Given the description of an element on the screen output the (x, y) to click on. 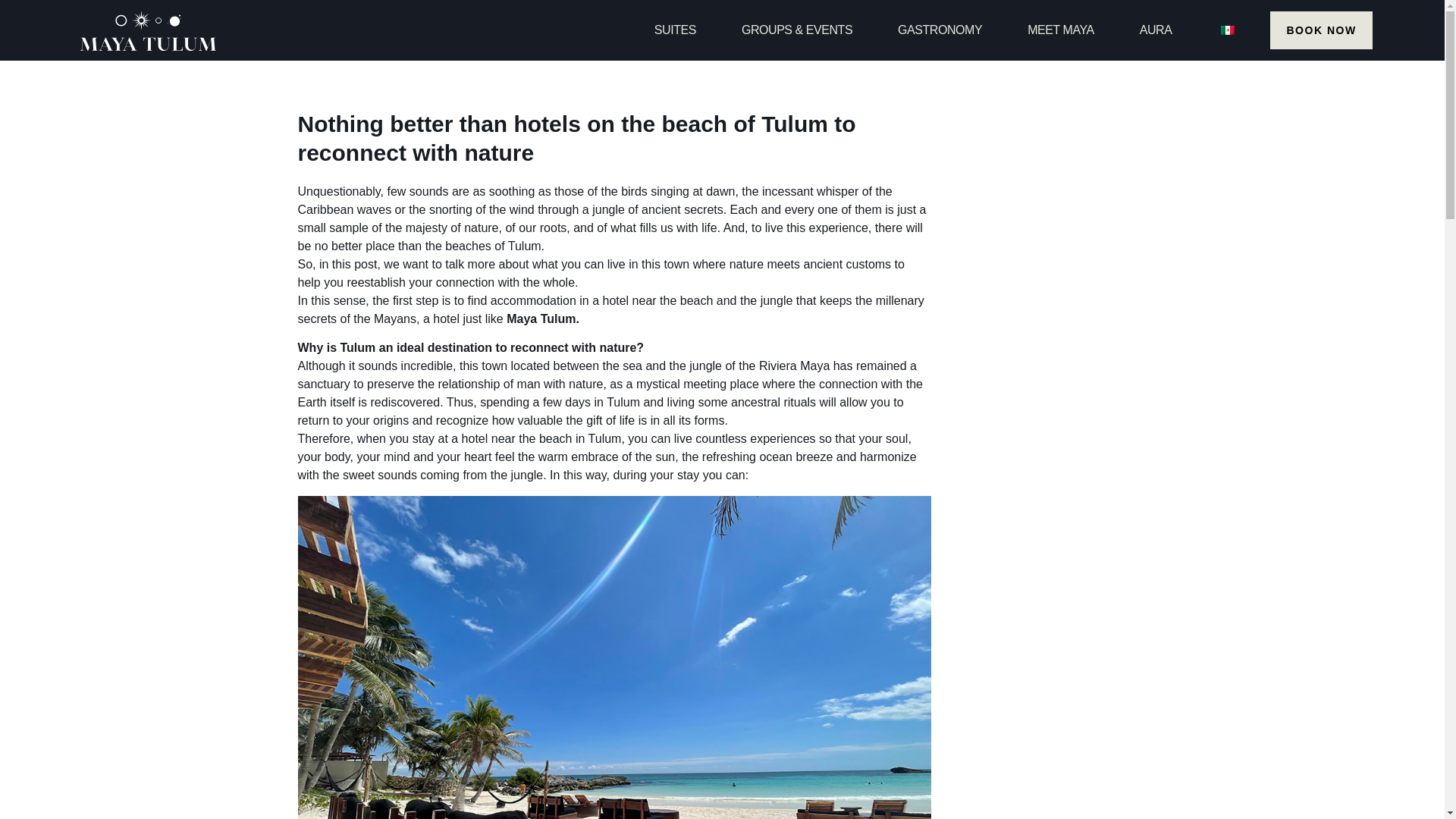
AURA (1155, 30)
Maya Tulum (540, 318)
Opposite Language (1227, 30)
GASTRONOMY (939, 30)
BOOK NOW (1320, 30)
MEET MAYA (1061, 30)
SUITES (674, 30)
